Given the description of an element on the screen output the (x, y) to click on. 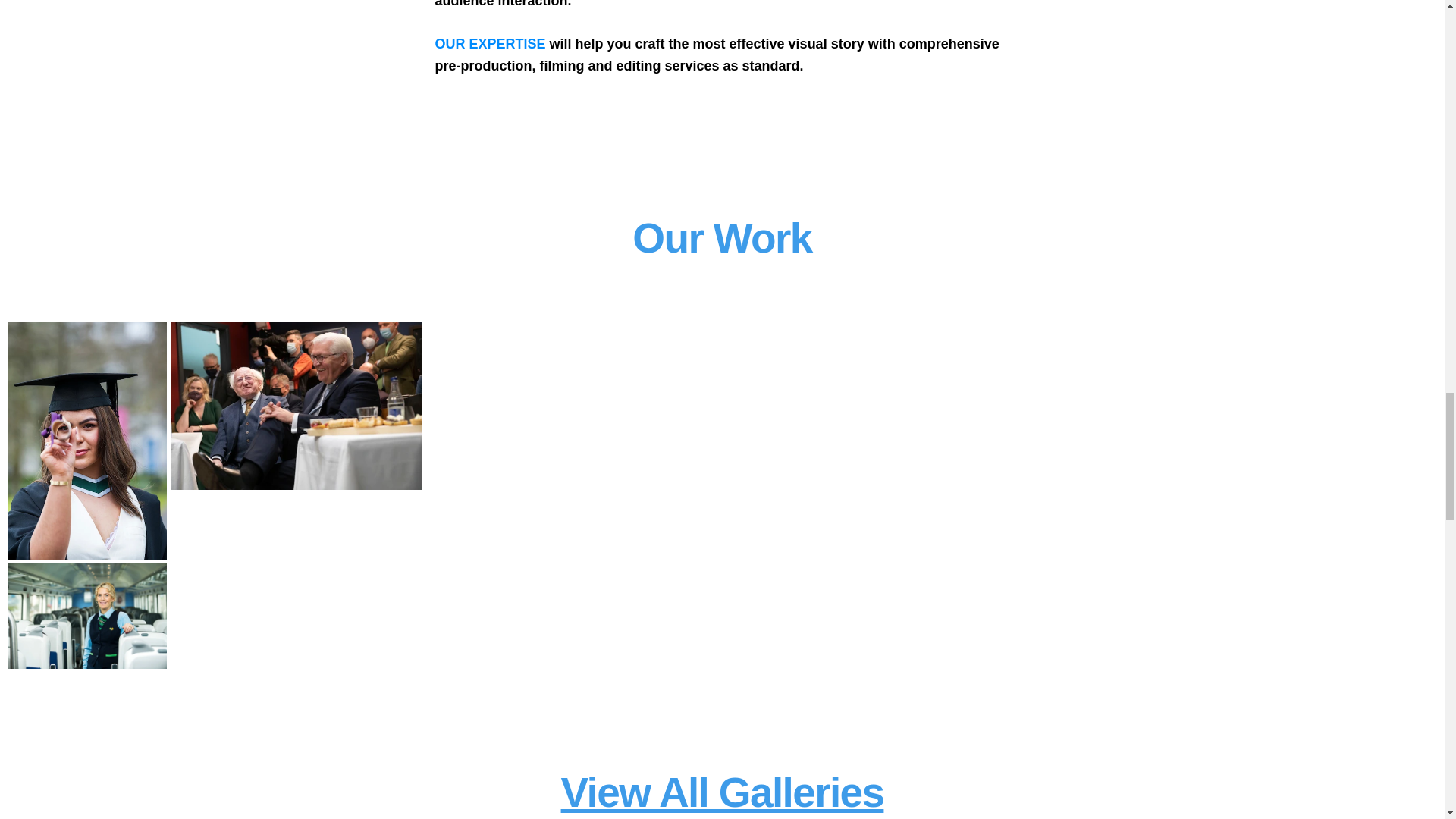
View All Galleries (721, 792)
